Given the description of an element on the screen output the (x, y) to click on. 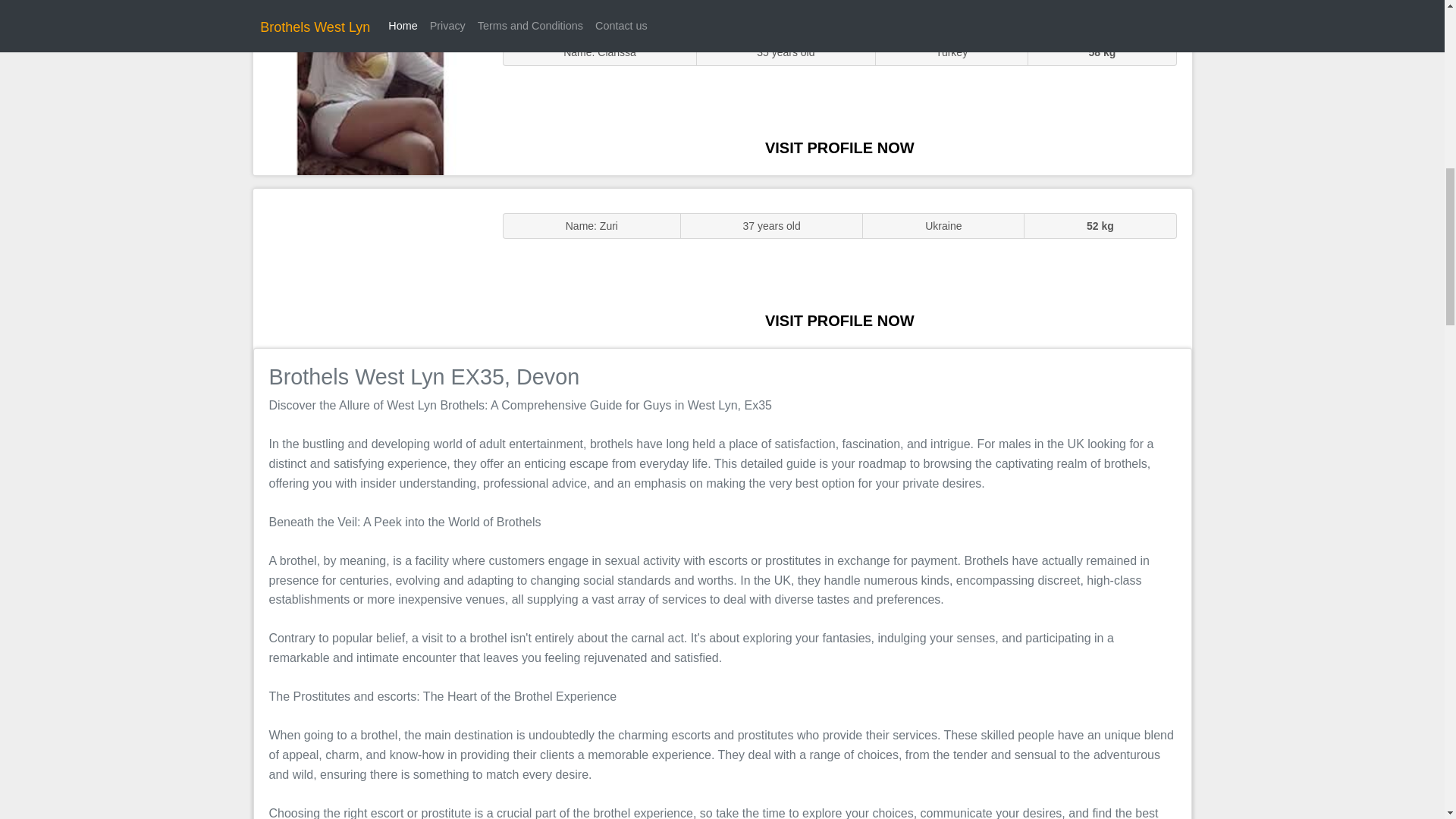
Sluts (370, 94)
VISIT PROFILE NOW (839, 147)
VISIT PROFILE NOW (839, 320)
Massage (370, 267)
